Given the description of an element on the screen output the (x, y) to click on. 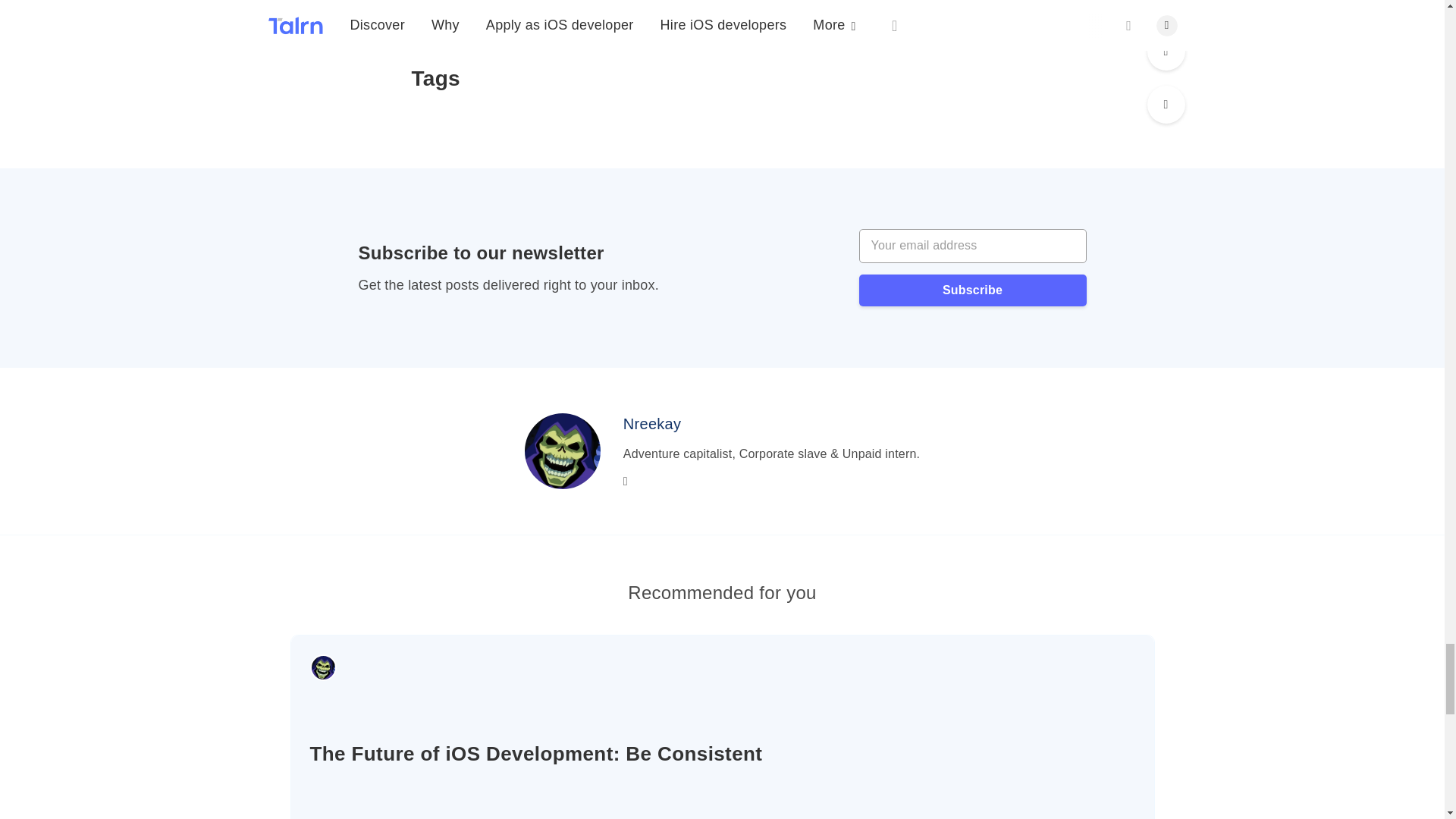
Nreekay (652, 423)
The Future of iOS Development: Be Consistent (721, 753)
Subscribe (972, 290)
